Given the description of an element on the screen output the (x, y) to click on. 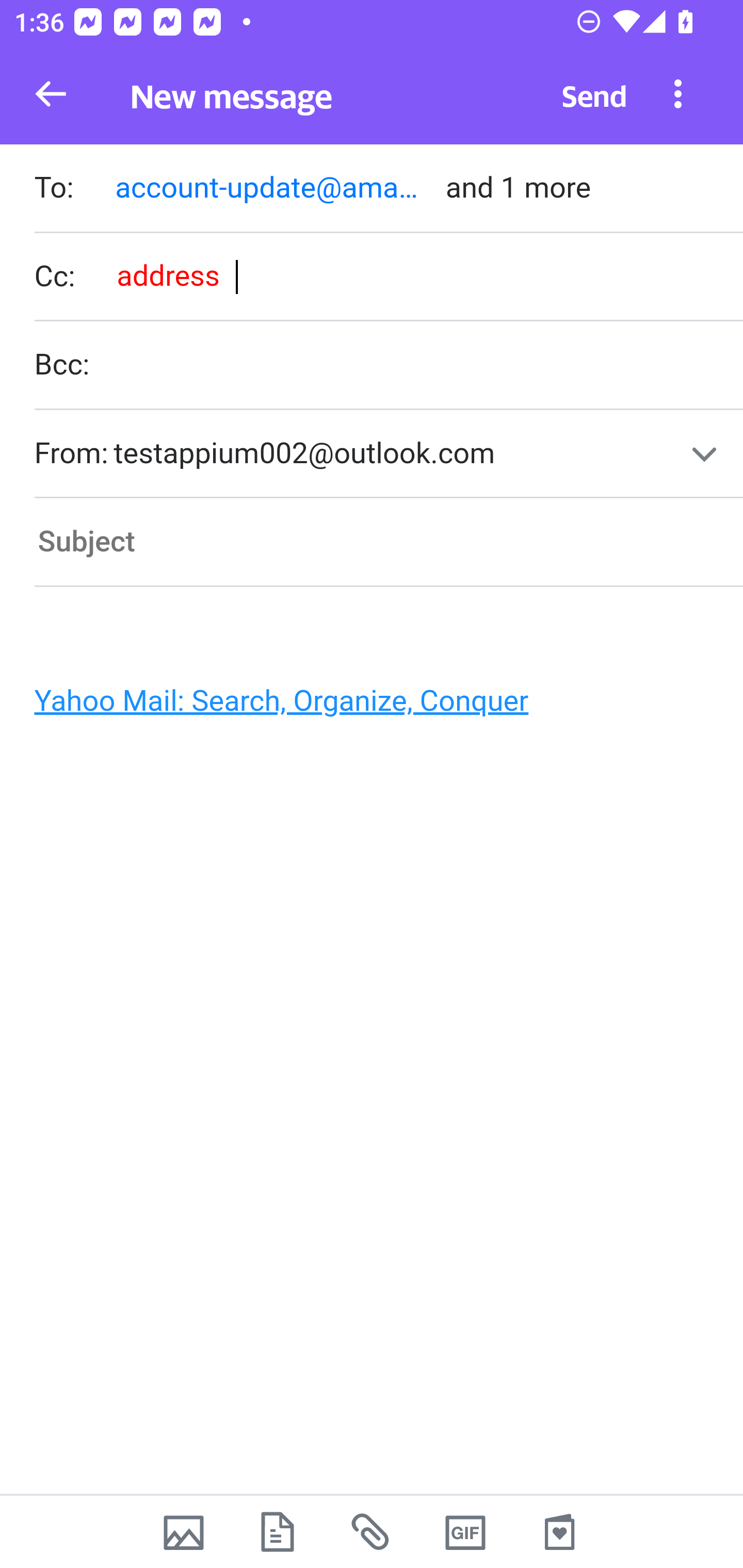
Back (50, 93)
Send (594, 93)
More options (677, 93)
To: account-update@amazon.com, and 1 more (387, 189)
account-update@amazon.com, (271, 187)
Cc: address (387, 276)
address (167, 275)
Bcc: (387, 365)
chevron_down From: testappium002@outlook.com (387, 453)


Yahoo Mail: Search, Organize, Conquer (363, 705)
Camera photos (183, 1531)
Device files (277, 1531)
Recent attachments from mail (371, 1531)
GIFs (465, 1531)
Stationery (559, 1531)
